Given the description of an element on the screen output the (x, y) to click on. 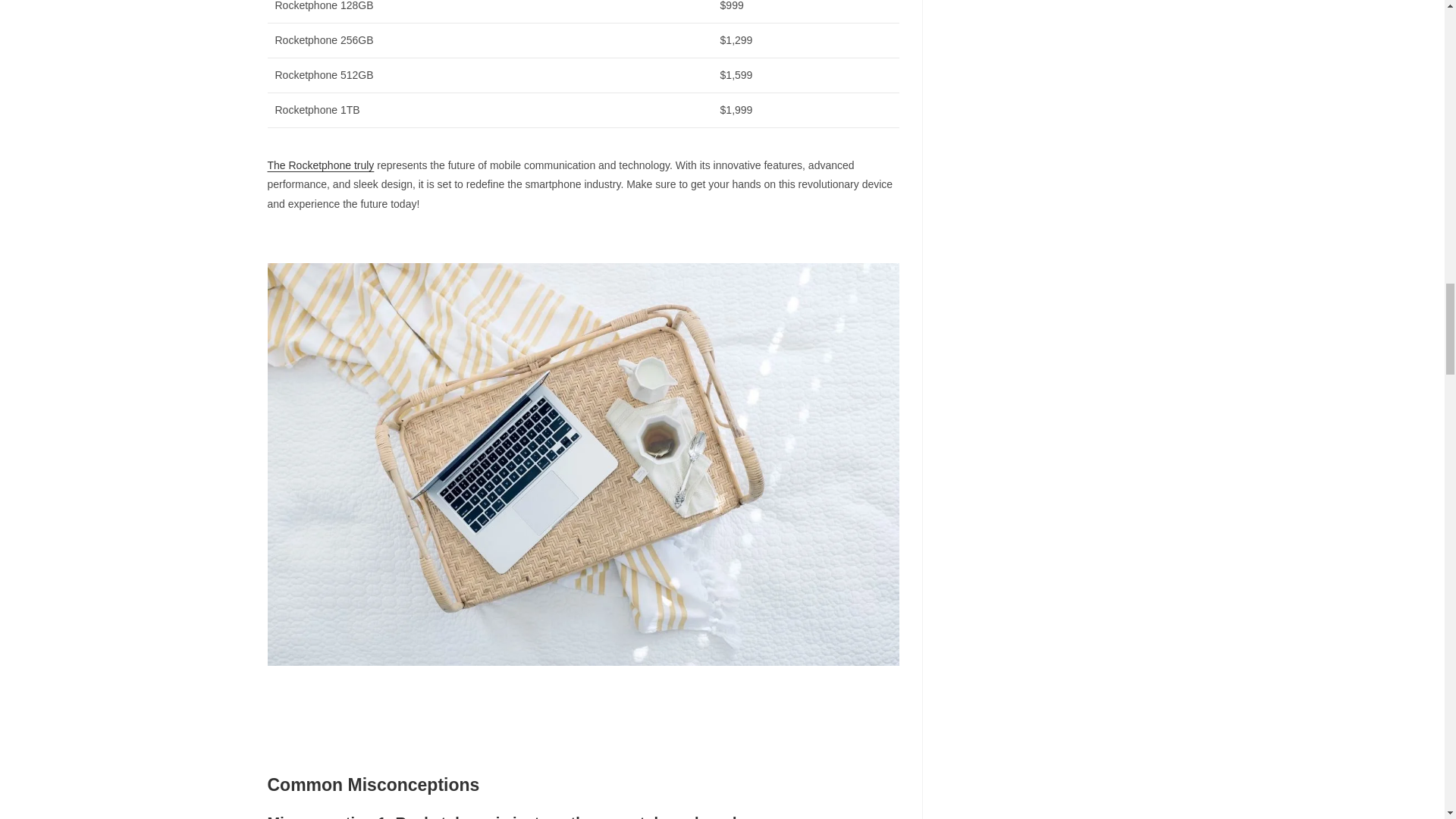
The Rocketphone truly (320, 164)
